Given the description of an element on the screen output the (x, y) to click on. 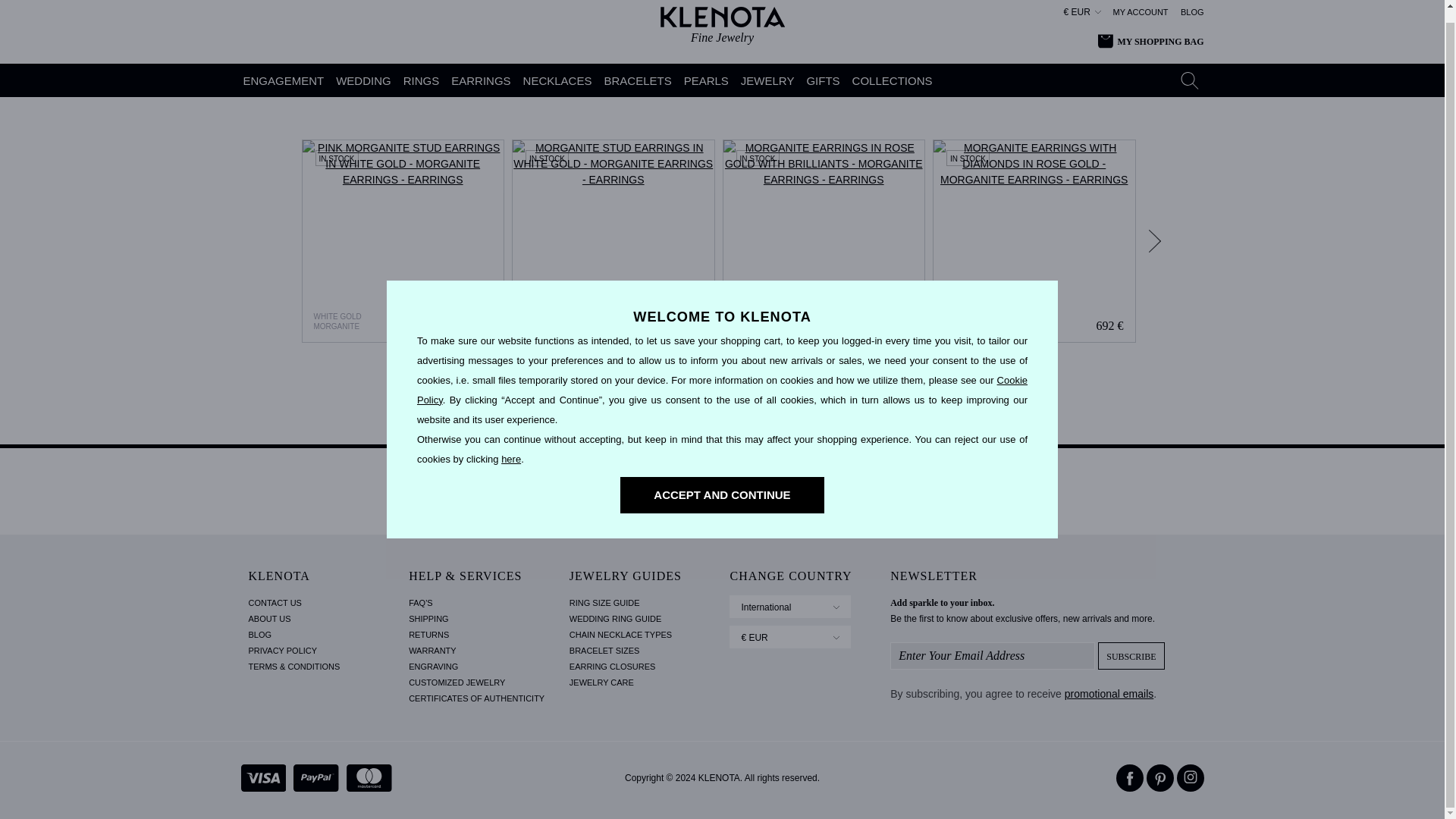
Pink Morganite Stud Earrings in White Gold (403, 241)
Morganite Earrings with Diamonds in Rose Gold (1034, 241)
Morganite Stud Earrings in White Gold (613, 241)
Morganite Earrings in Rose Gold with Brilliants (823, 241)
Facebook (1129, 777)
ENGAGEMENT (283, 80)
Instagram (1190, 777)
Morganite Stud Earrings in White Gold (613, 241)
MY ACCOUNT (1141, 11)
Pinterest (1160, 777)
